Given the description of an element on the screen output the (x, y) to click on. 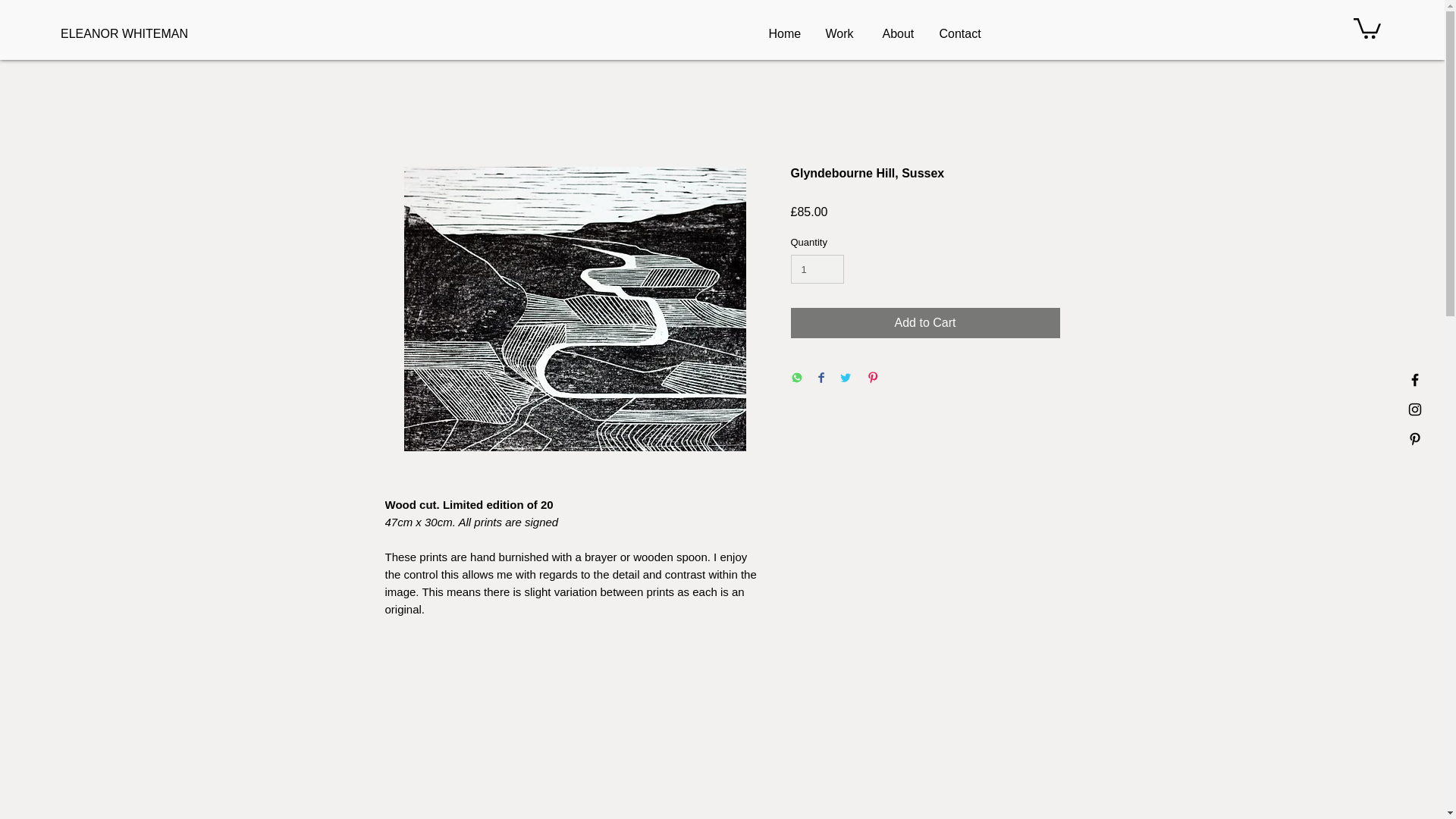
Work (845, 34)
About (903, 34)
1 (817, 268)
Add to Cart (924, 322)
ELEANOR WHITEMAN (133, 33)
Contact (959, 34)
Home (789, 34)
